Given the description of an element on the screen output the (x, y) to click on. 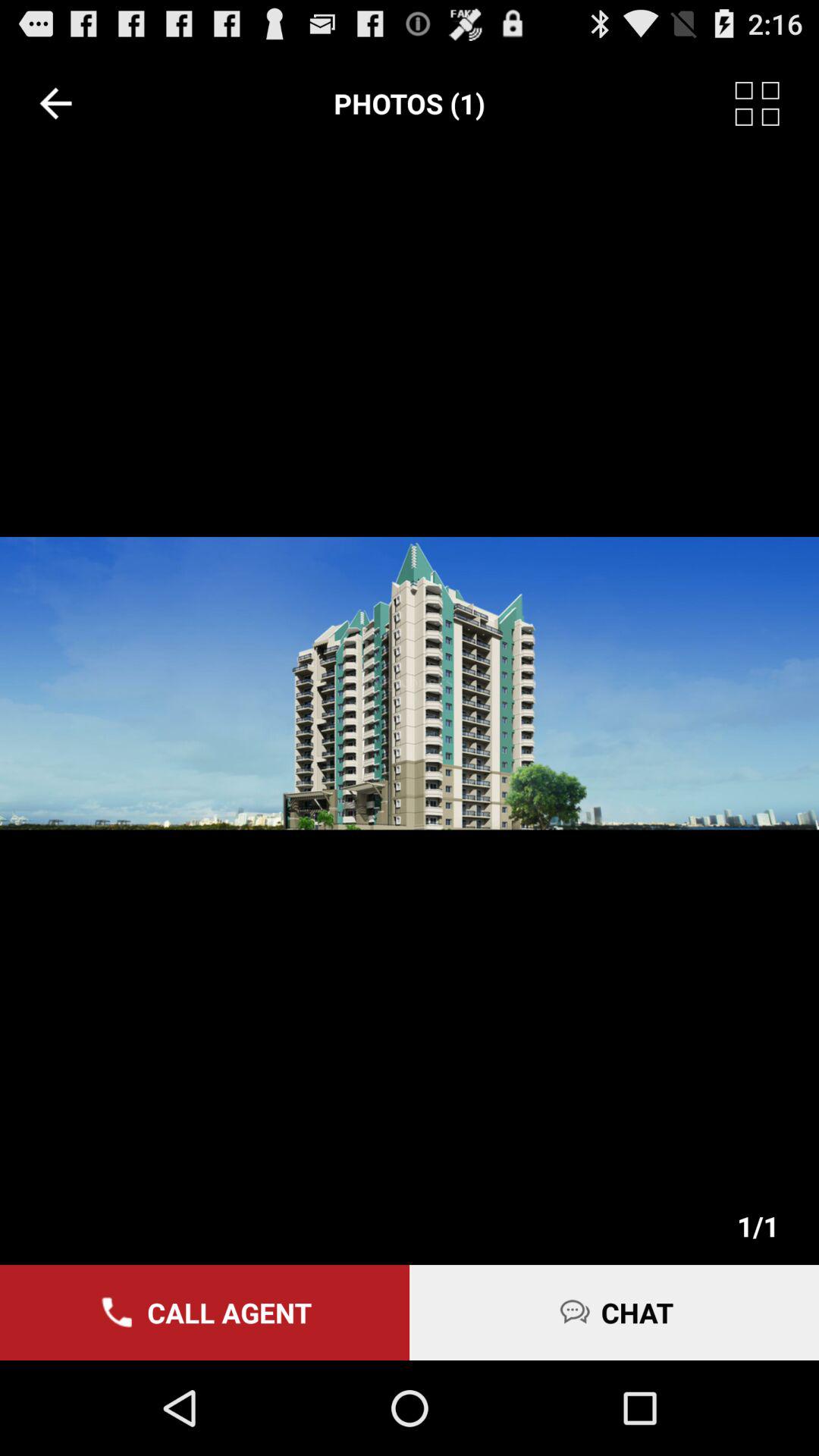
open photos (1) item (409, 103)
